Given the description of an element on the screen output the (x, y) to click on. 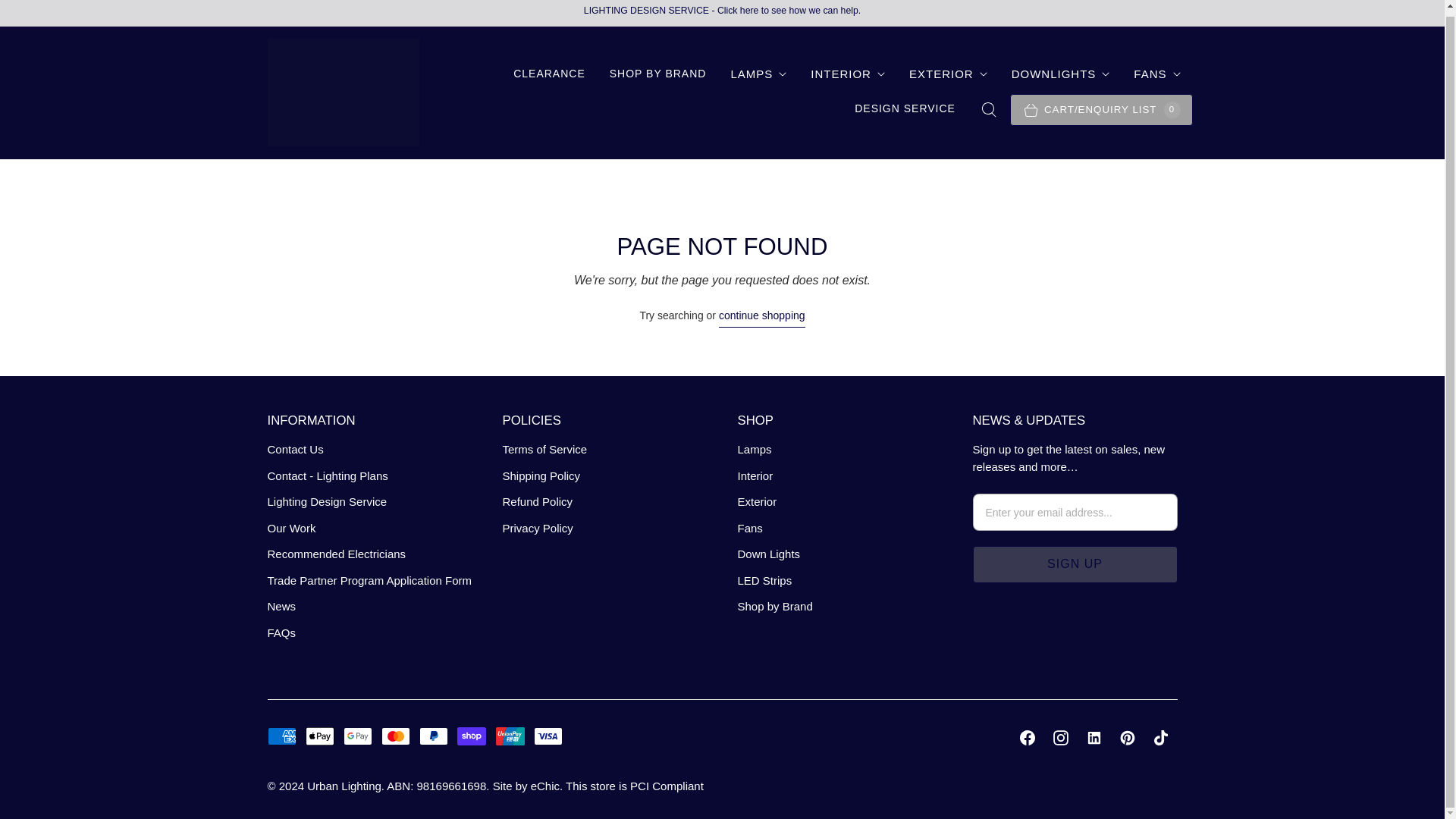
Apple Pay (319, 736)
Union Pay (510, 736)
Mastercard (395, 736)
SHOP BY BRAND (657, 73)
PayPal (433, 736)
Google Pay (357, 736)
Visa (548, 736)
American Express (280, 736)
Sign Up (1074, 564)
CLEARANCE (548, 73)
Shop Pay (471, 736)
